Given the description of an element on the screen output the (x, y) to click on. 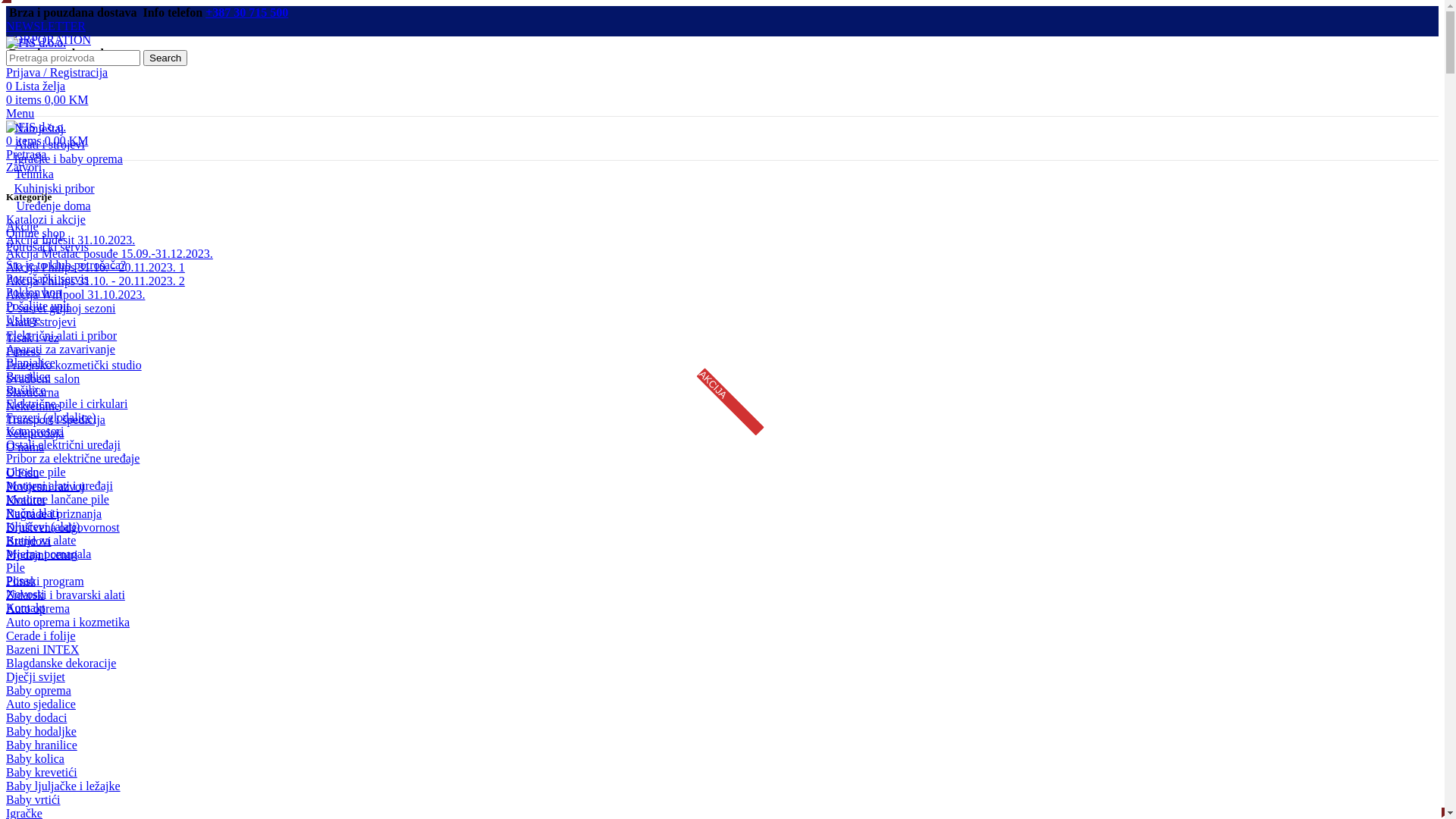
Baby oprema Element type: text (38, 690)
Pretraga proizvoda Element type: hover (73, 57)
+387 30 715 500 Element type: text (246, 12)
Kvalitet Element type: text (25, 499)
Alati i strojevi Element type: text (40, 321)
Baby hodaljke Element type: text (41, 730)
0 items 0,00 KM Element type: text (46, 99)
0 items 0,00 KM Element type: text (46, 140)
Baby dodaci Element type: text (36, 717)
Nagrade i priznanja Element type: text (53, 513)
Akcija Indesit 31.10.2023. Element type: text (70, 239)
NEWSLETTER Element type: text (45, 25)
Blanjalice Element type: text (30, 362)
Pretraga Element type: text (26, 153)
Akcija Wirlpool 31.10.2023. Element type: text (75, 294)
Prodajni centri Element type: text (42, 554)
Baby hranilice Element type: text (41, 744)
Frezeri (glodalice) Element type: text (51, 417)
Akcije Element type: text (22, 225)
Kutije za alate Element type: text (40, 539)
Auto oprema i kozmetika Element type: text (67, 621)
O Fisu Element type: text (22, 472)
Usluge Element type: text (23, 319)
Kompresori Element type: text (34, 430)
Povijesni razvoj Element type: text (45, 486)
Search Element type: text (165, 57)
Katalozi i akcije Element type: text (45, 219)
Kuhinjski pribor Element type: text (50, 188)
Zatvori Element type: text (23, 166)
Menu Element type: text (20, 112)
Veleprodaja Element type: text (34, 432)
Online shop Element type: text (35, 232)
O nama Element type: text (24, 446)
CORPORATION Element type: text (48, 39)
Blagdanske dekoracije Element type: text (61, 662)
Prijava / Registracija Element type: text (56, 71)
Baby kolica Element type: text (35, 758)
Nekretnine Element type: text (32, 405)
Fitness Element type: text (23, 351)
Ubodne pile Element type: text (35, 471)
U susret grijnoj sezoni Element type: text (60, 307)
Plinski program Element type: text (45, 580)
Cerade i folije Element type: text (40, 635)
Brusilice Element type: text (28, 376)
Auto oprema Element type: text (37, 608)
Aparati za zavarivanje Element type: text (60, 348)
Tehnika Element type: text (29, 173)
Novosti Element type: text (25, 593)
Brendovi Element type: text (28, 540)
Auto sjedalice Element type: text (40, 703)
Bazeni INTEX Element type: text (42, 649)
Mjerna pomagala Element type: text (48, 553)
Poklon bon Element type: text (33, 291)
Pile Element type: text (15, 567)
Akcija Philips 31.10. - 20.11.2023. 1 Element type: text (95, 266)
Svadbeni salon Element type: text (42, 378)
Akcija Philips 31.10. - 20.11.2023. 2 Element type: text (95, 280)
Alati i strojevi Element type: text (45, 144)
Tisak i vez Element type: text (32, 337)
Posao Element type: text (20, 580)
Kontakt Element type: text (25, 607)
Zidarski i bravarski alati Element type: text (65, 594)
